Given the description of an element on the screen output the (x, y) to click on. 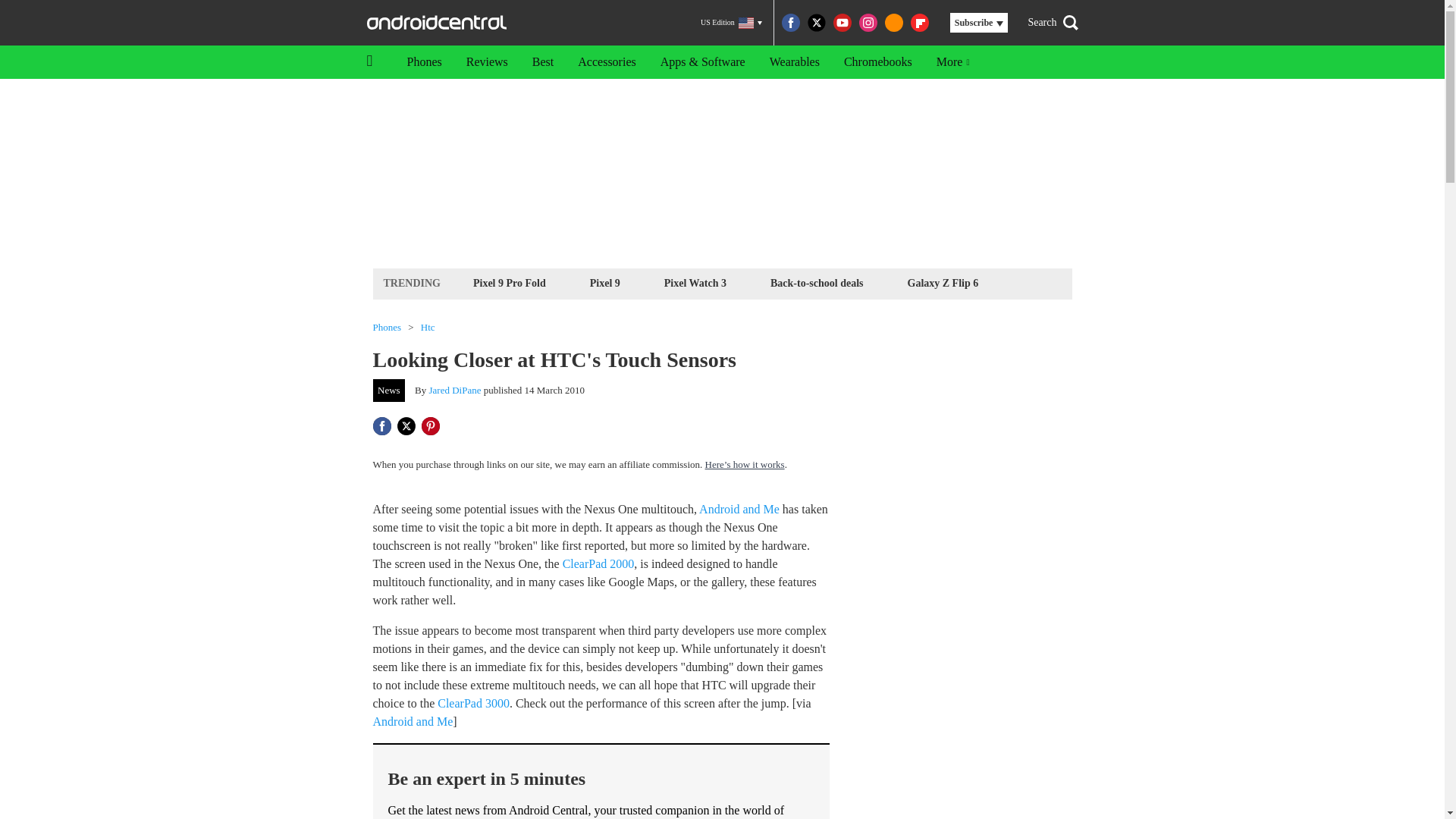
US Edition (731, 22)
Wearables (794, 61)
Accessories (606, 61)
Best (542, 61)
Pixel 9 (605, 282)
Galaxy Z Flip 6 (943, 282)
Reviews (486, 61)
Pixel 9 Pro Fold (509, 282)
News (389, 390)
Chromebooks (877, 61)
